Given the description of an element on the screen output the (x, y) to click on. 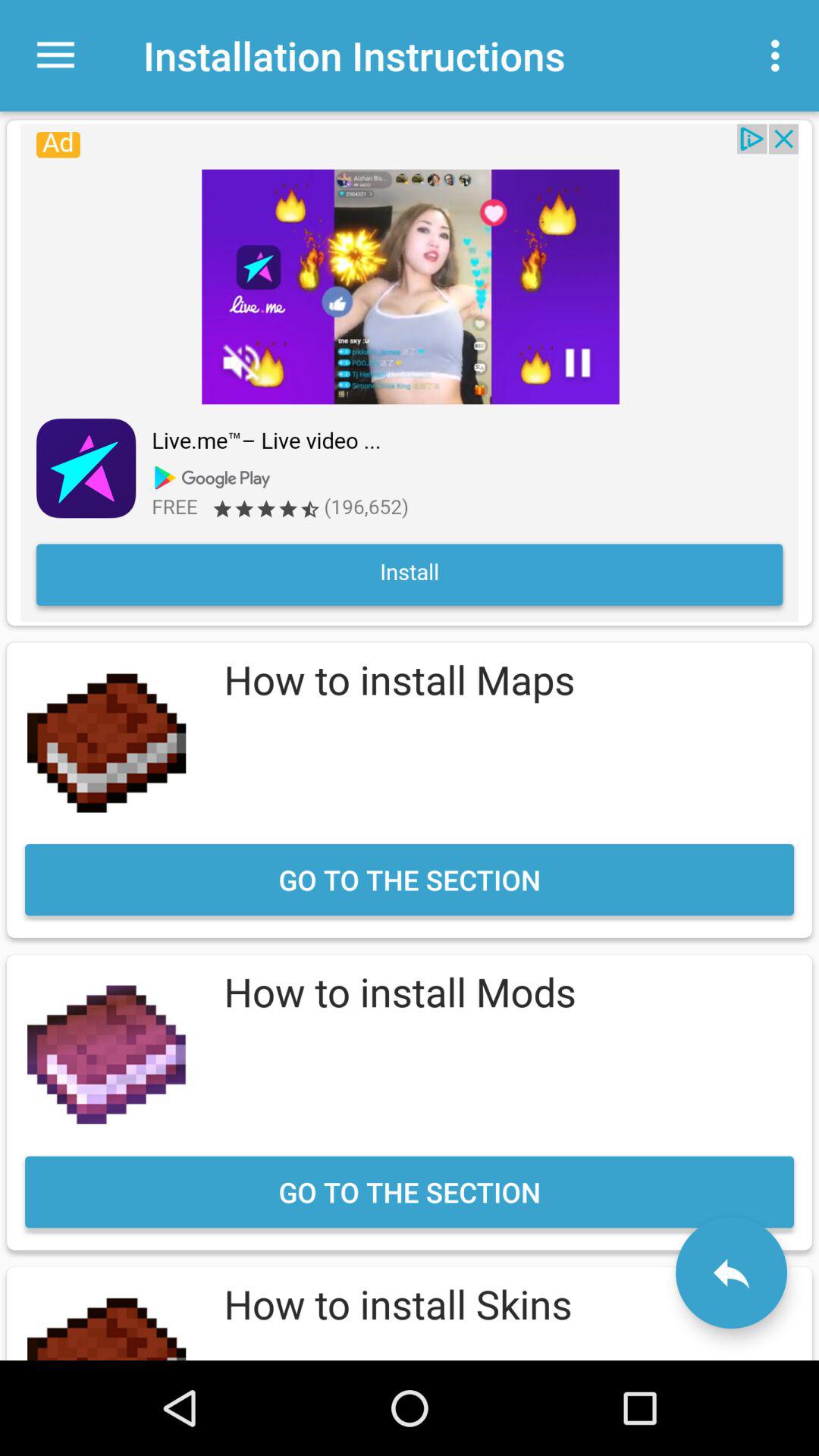
link to advertisement (409, 372)
